Given the description of an element on the screen output the (x, y) to click on. 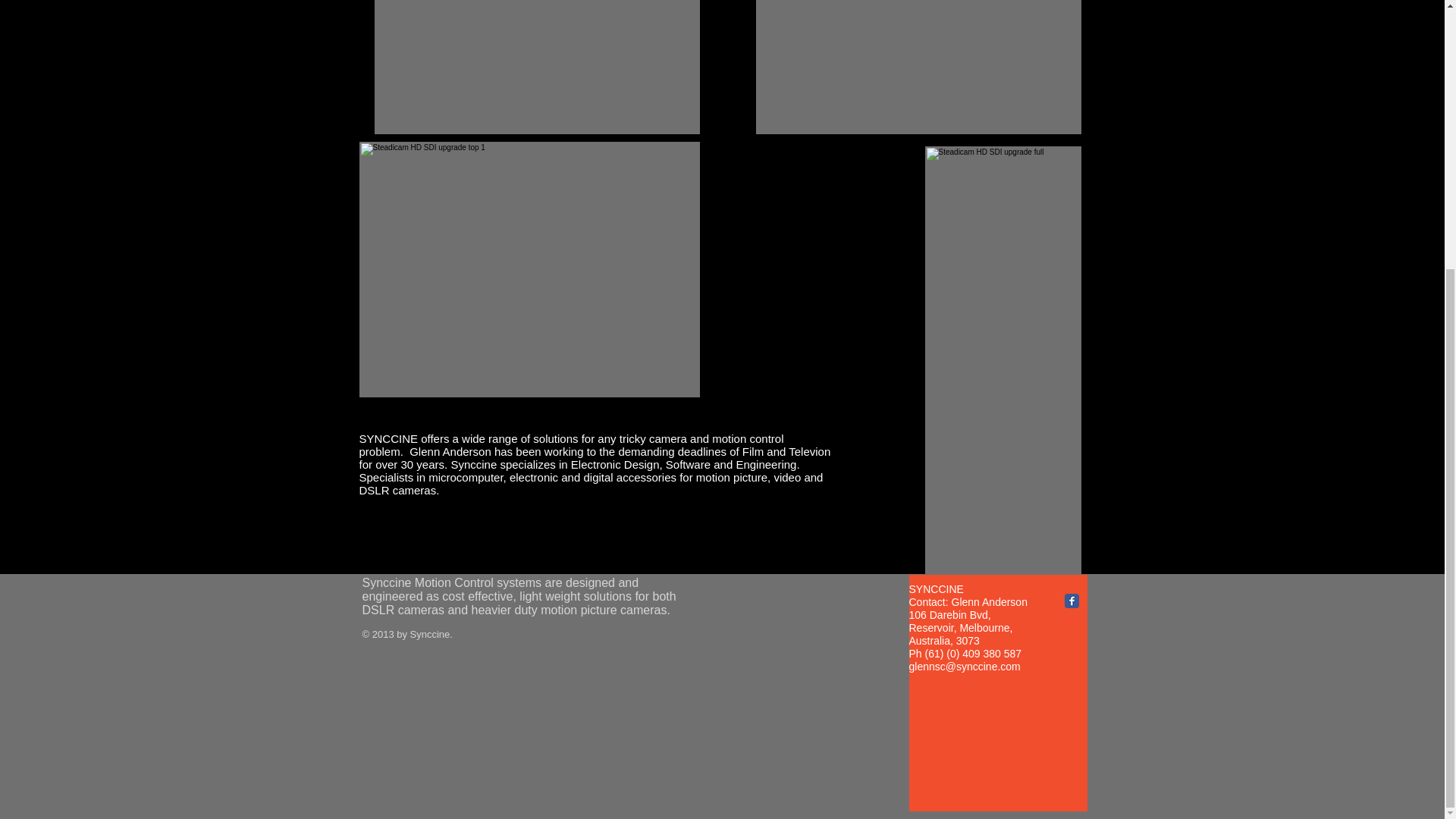
Steadicam HD SDI upgrade top.jpg (917, 67)
Steadicam HD SDI upgrade top 1 (529, 269)
Steadicam HD SDI upgrade full (1002, 360)
Steadicam HD SDI upgrade bottom.jpg (537, 67)
